Given the description of an element on the screen output the (x, y) to click on. 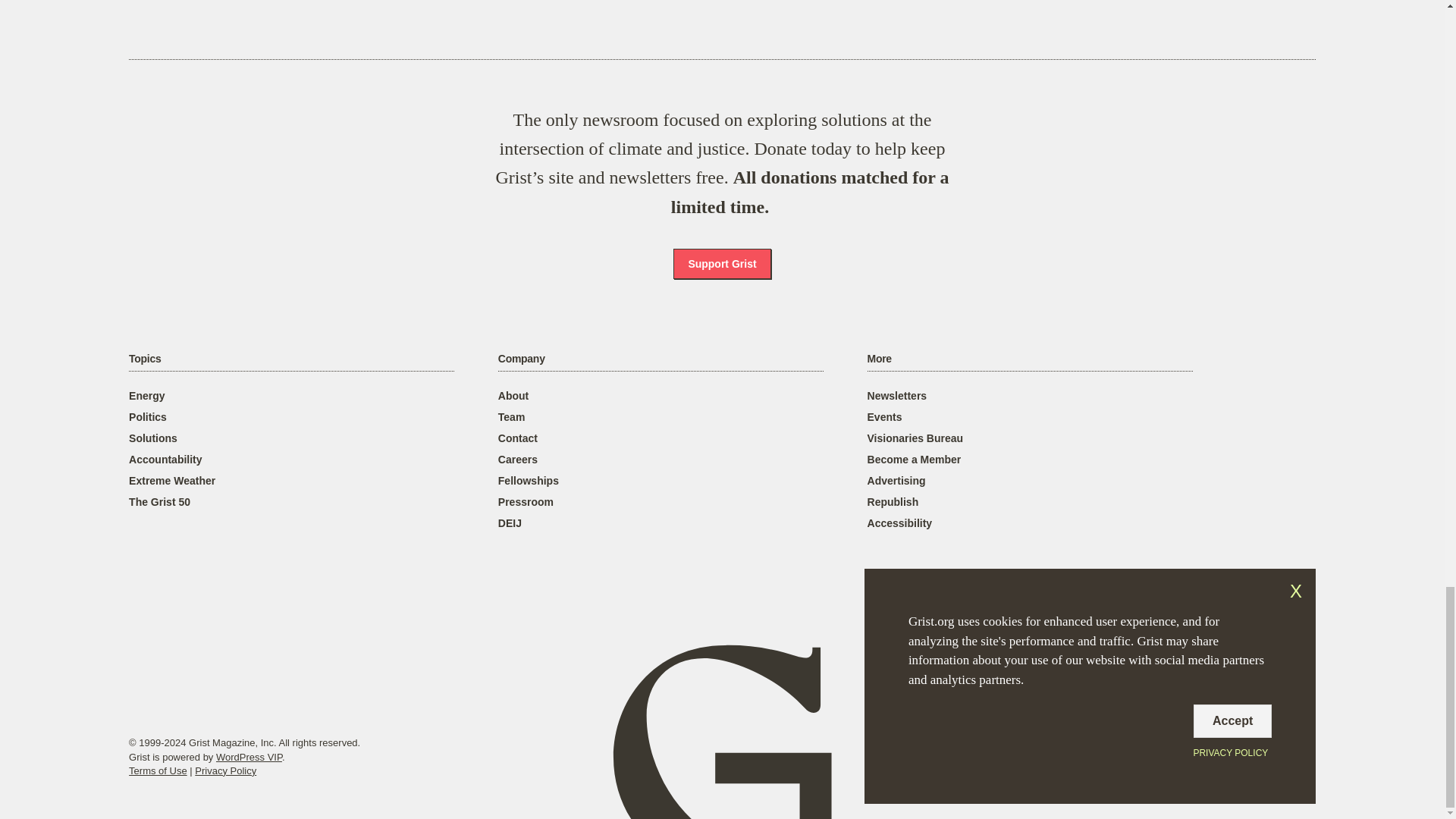
Topics (144, 358)
More (879, 358)
Company (520, 358)
